Given the description of an element on the screen output the (x, y) to click on. 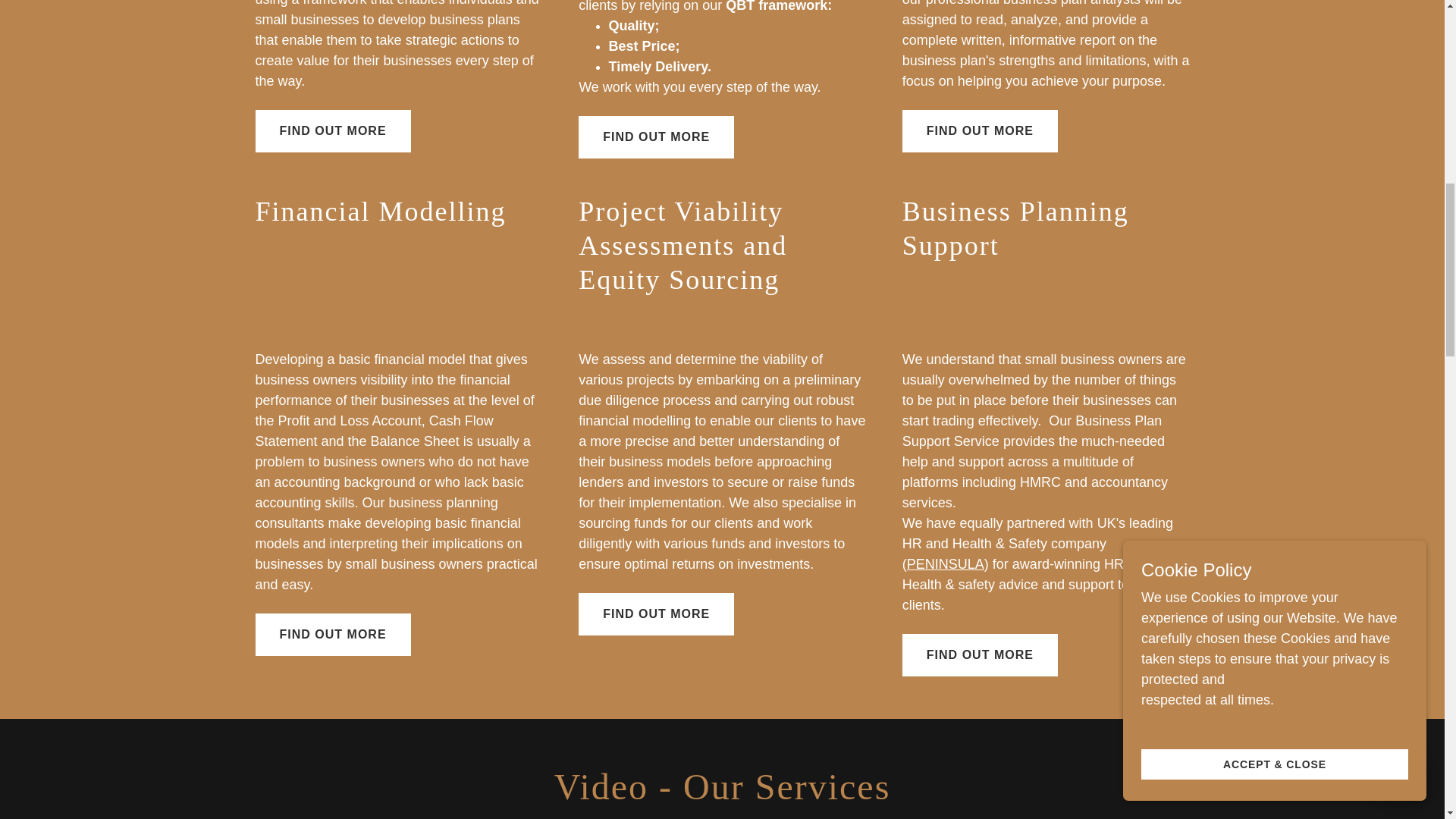
PENINSULA (945, 563)
FIND OUT MORE (655, 137)
FIND OUT MORE (332, 634)
FIND OUT MORE (980, 130)
FIND OUT MORE (332, 130)
FIND OUT MORE (655, 613)
FIND OUT MORE (980, 654)
